Given the description of an element on the screen output the (x, y) to click on. 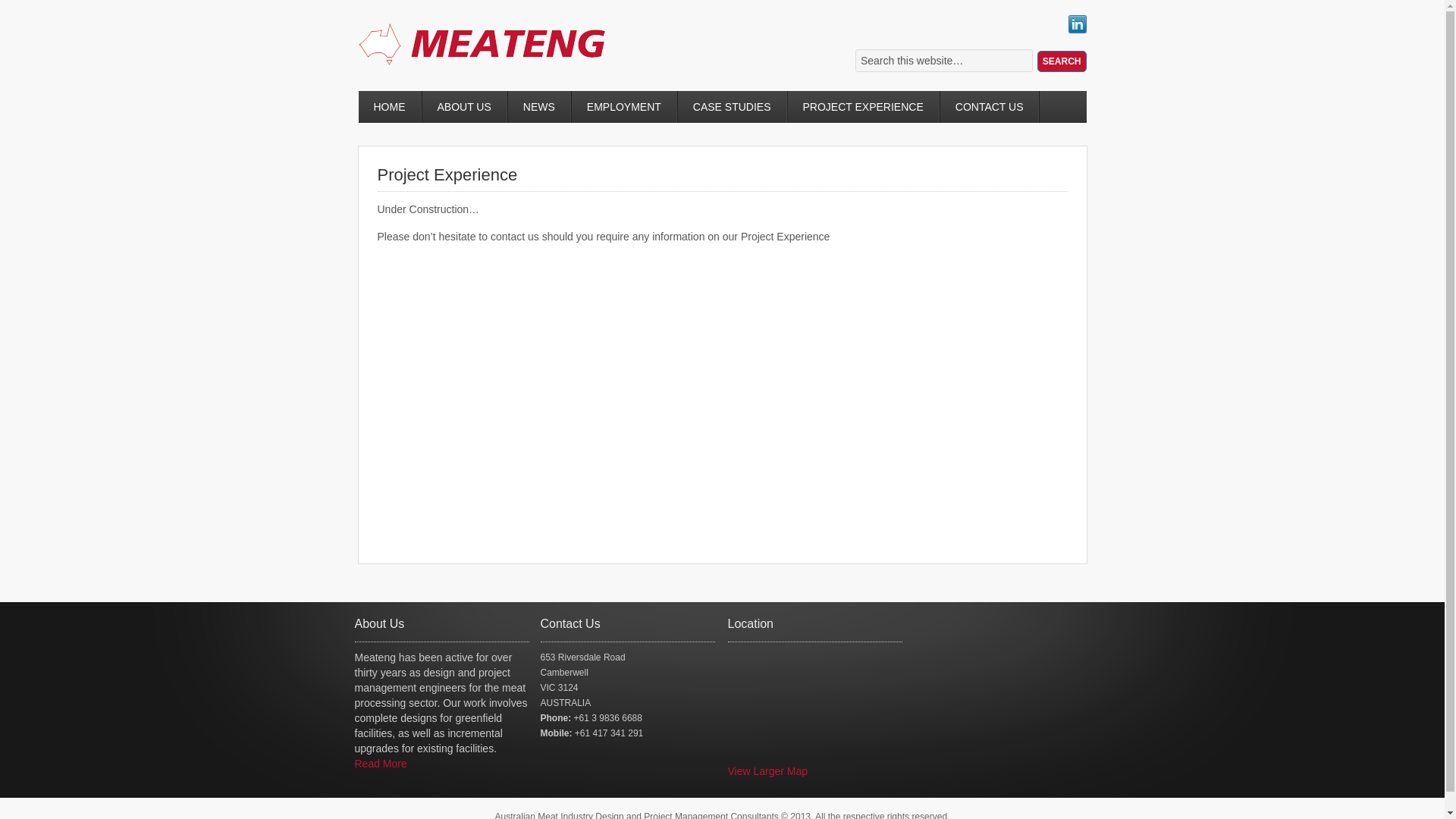
MEATENG Element type: text (493, 59)
Search Element type: text (1061, 61)
NEWS Element type: text (539, 106)
View Larger Map Element type: text (768, 771)
Read More Element type: text (380, 763)
Join Us on LinkedIn! Element type: hover (1076, 29)
EMPLOYMENT Element type: text (624, 106)
PROJECT EXPERIENCE Element type: text (863, 106)
ABOUT US Element type: text (464, 106)
HOME Element type: text (389, 106)
CONTACT US Element type: text (990, 106)
